Given the description of an element on the screen output the (x, y) to click on. 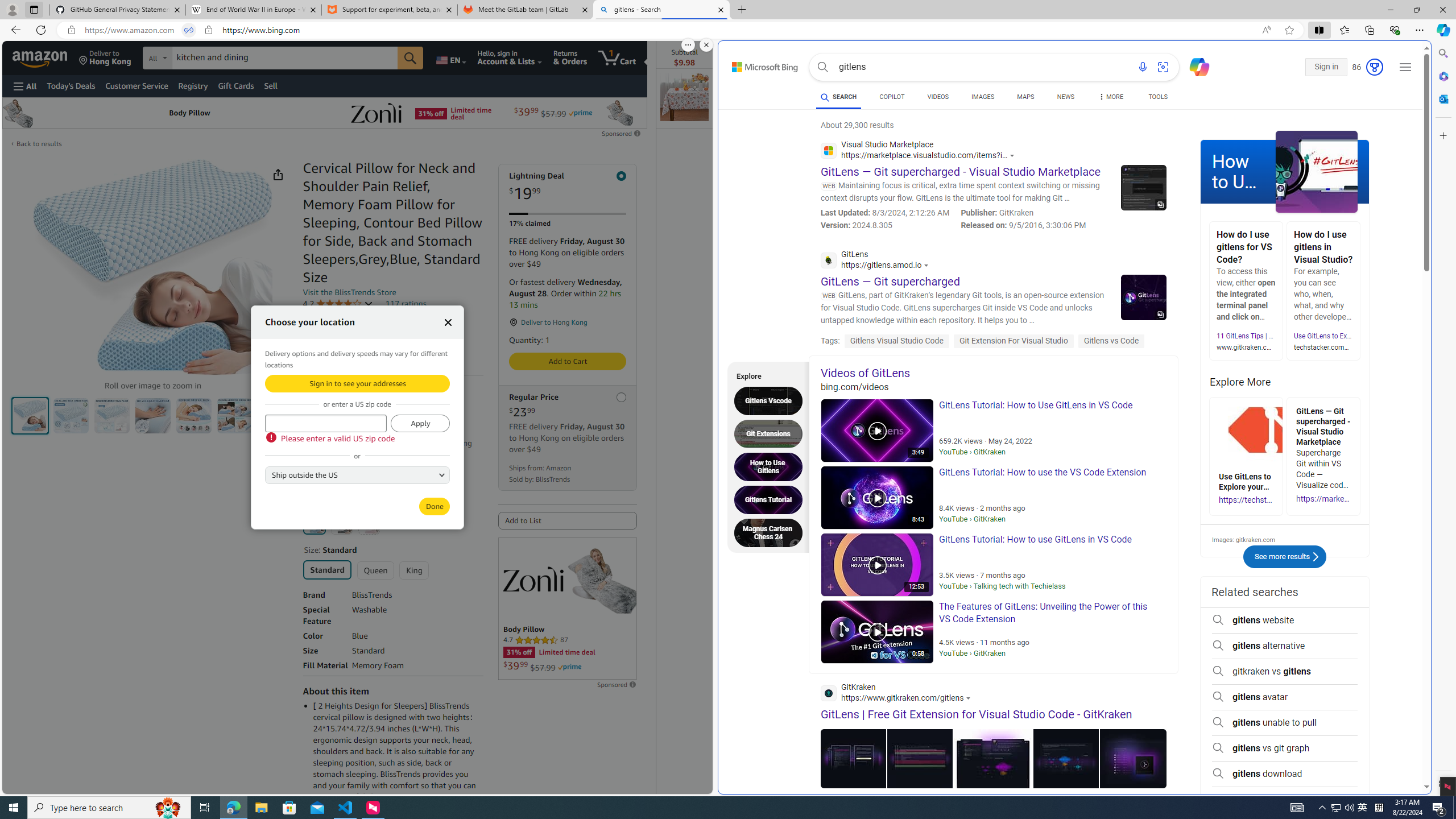
gitkraken vs gitlens (1283, 671)
NEWS (1065, 98)
117 ratings (405, 303)
Gift Cards (235, 85)
MORE (1110, 98)
gitlens alternative (1283, 645)
Gitlens Tutorial (771, 499)
gitlens - Search (660, 9)
Sign in to see your addresses (356, 383)
Choose a language for shopping. (450, 57)
